Given the description of an element on the screen output the (x, y) to click on. 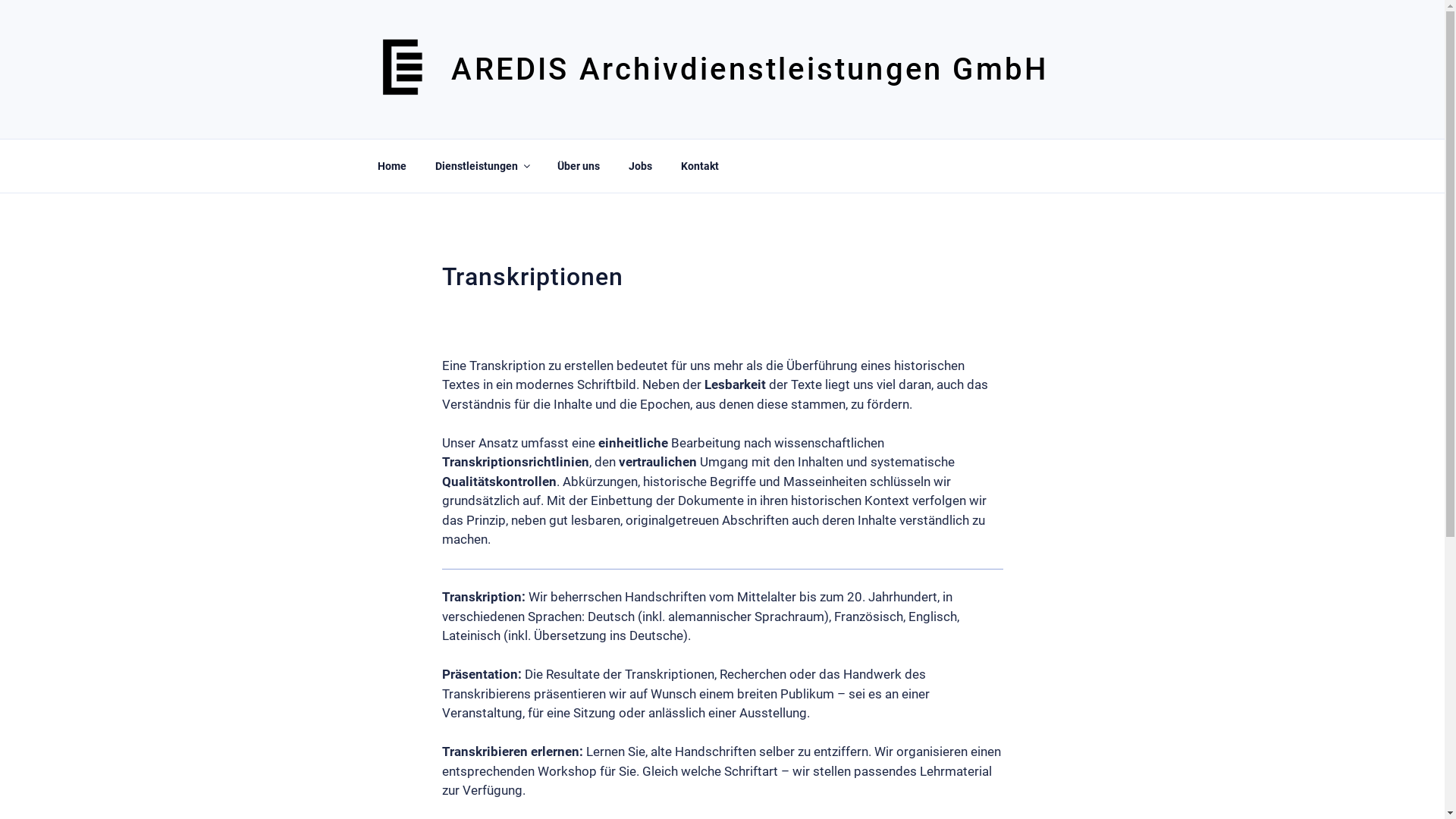
Dienstleistungen Element type: text (481, 165)
Home Element type: text (391, 165)
AREDIS Archivdienstleistungen GmbH Element type: text (749, 69)
Jobs Element type: text (640, 165)
Kontakt Element type: text (699, 165)
